Given the description of an element on the screen output the (x, y) to click on. 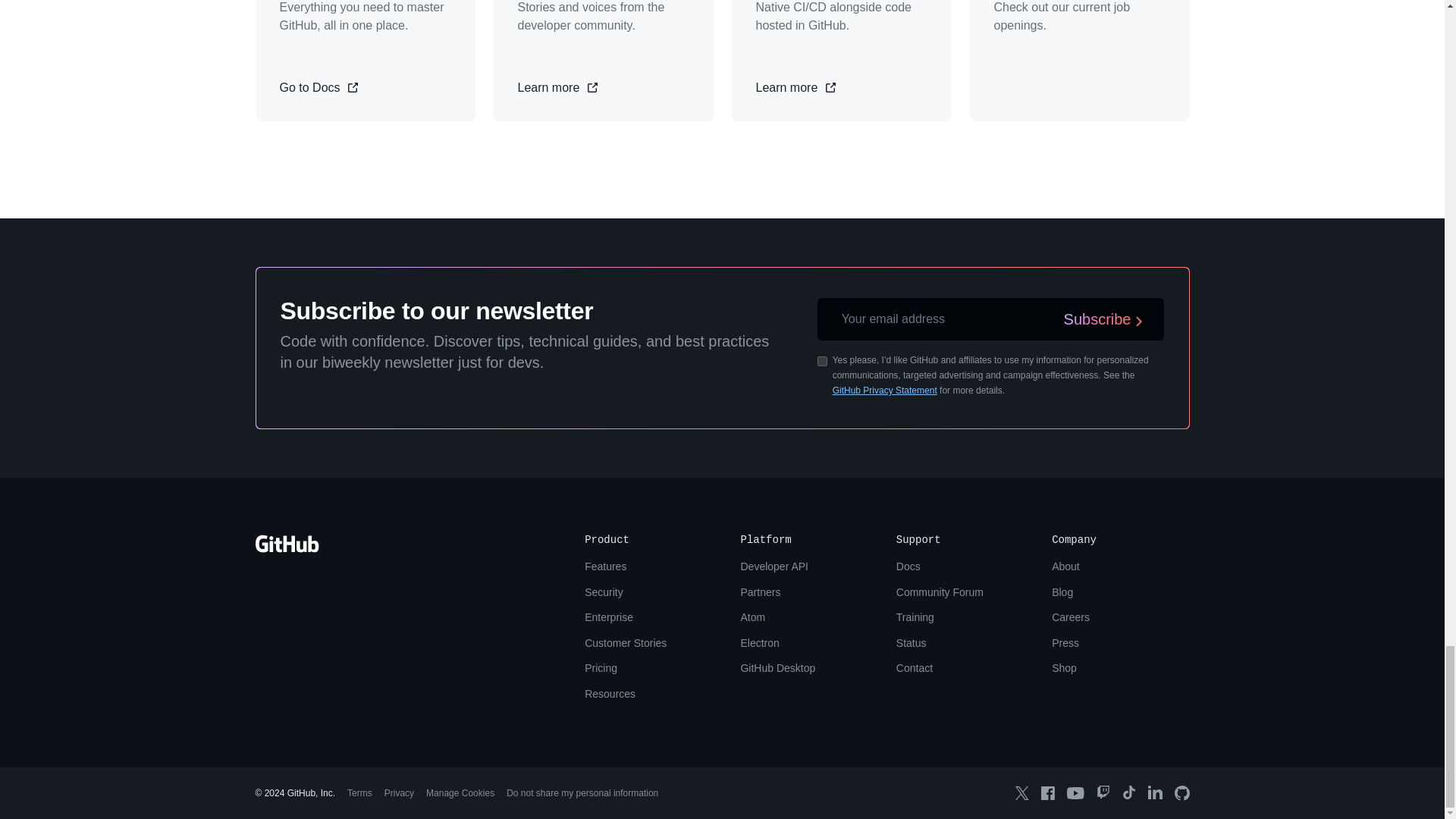
True (821, 361)
